Given the description of an element on the screen output the (x, y) to click on. 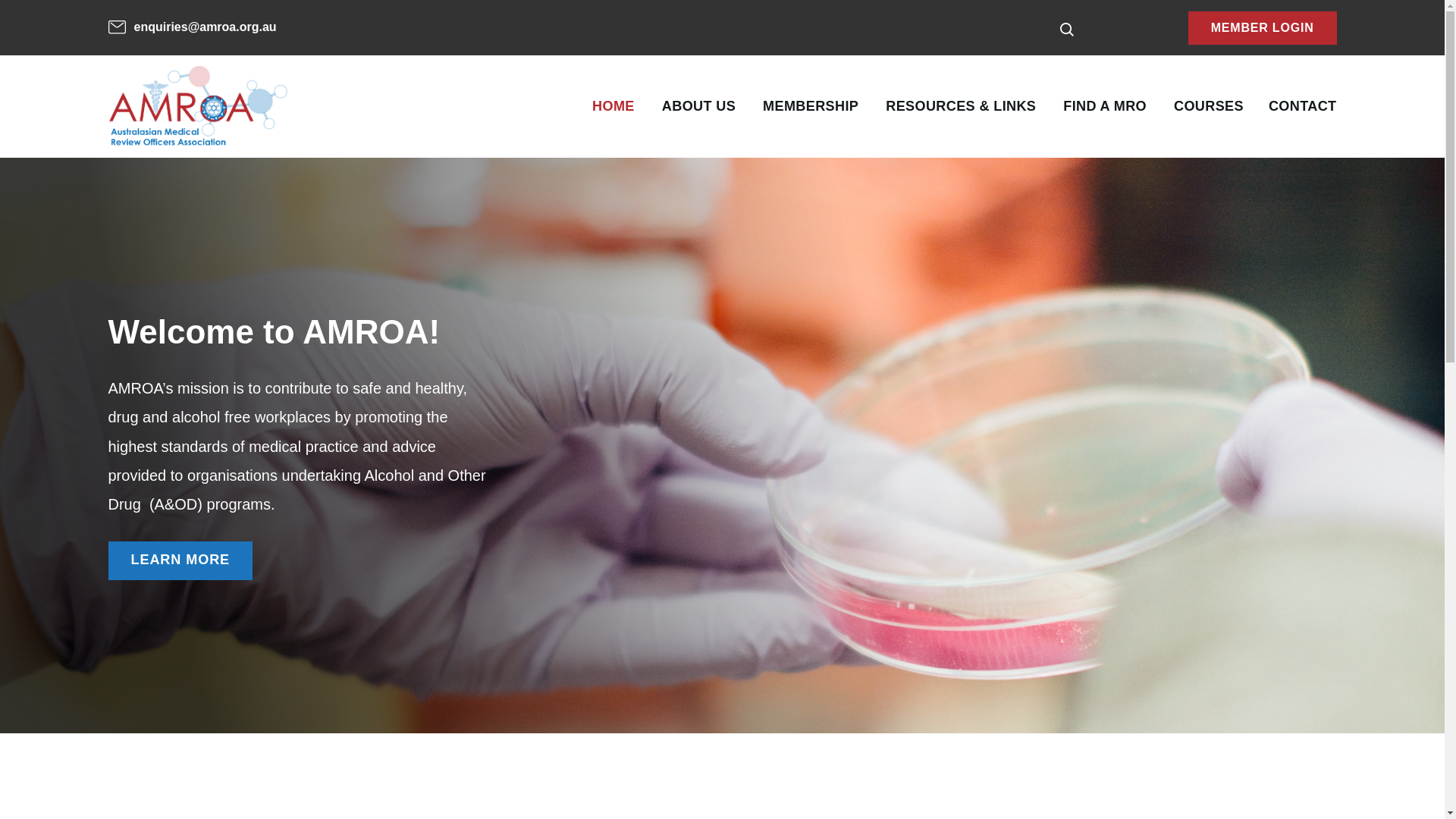
LEARN MORE Element type: text (179, 560)
RESOURCES & LINKS Element type: text (960, 106)
MEMBERSHIP Element type: text (810, 106)
enquiries@amroa.org.au Element type: text (191, 27)
COURSES Element type: text (1208, 106)
CONTACT Element type: text (1302, 106)
MEMBER LOGIN Element type: text (1262, 28)
ABOUT US Element type: text (698, 106)
HOME Element type: text (613, 106)
FIND A MRO Element type: text (1104, 106)
